Given the description of an element on the screen output the (x, y) to click on. 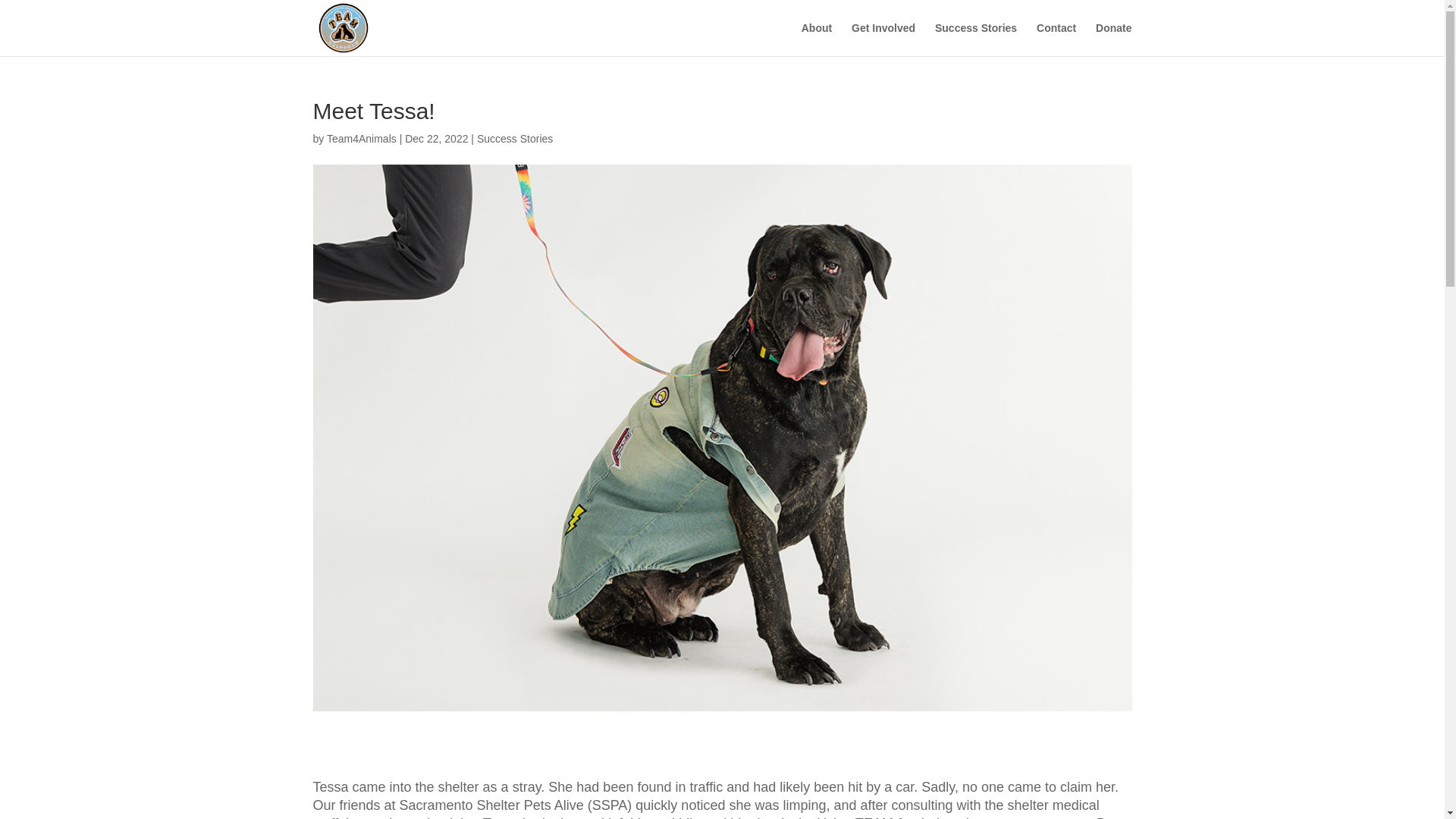
Team4Animals (361, 138)
Posts by Team4Animals (361, 138)
Success Stories (515, 138)
Get Involved (883, 39)
Donate (1113, 39)
About (816, 39)
Success Stories (975, 39)
Contact (1055, 39)
